Given the description of an element on the screen output the (x, y) to click on. 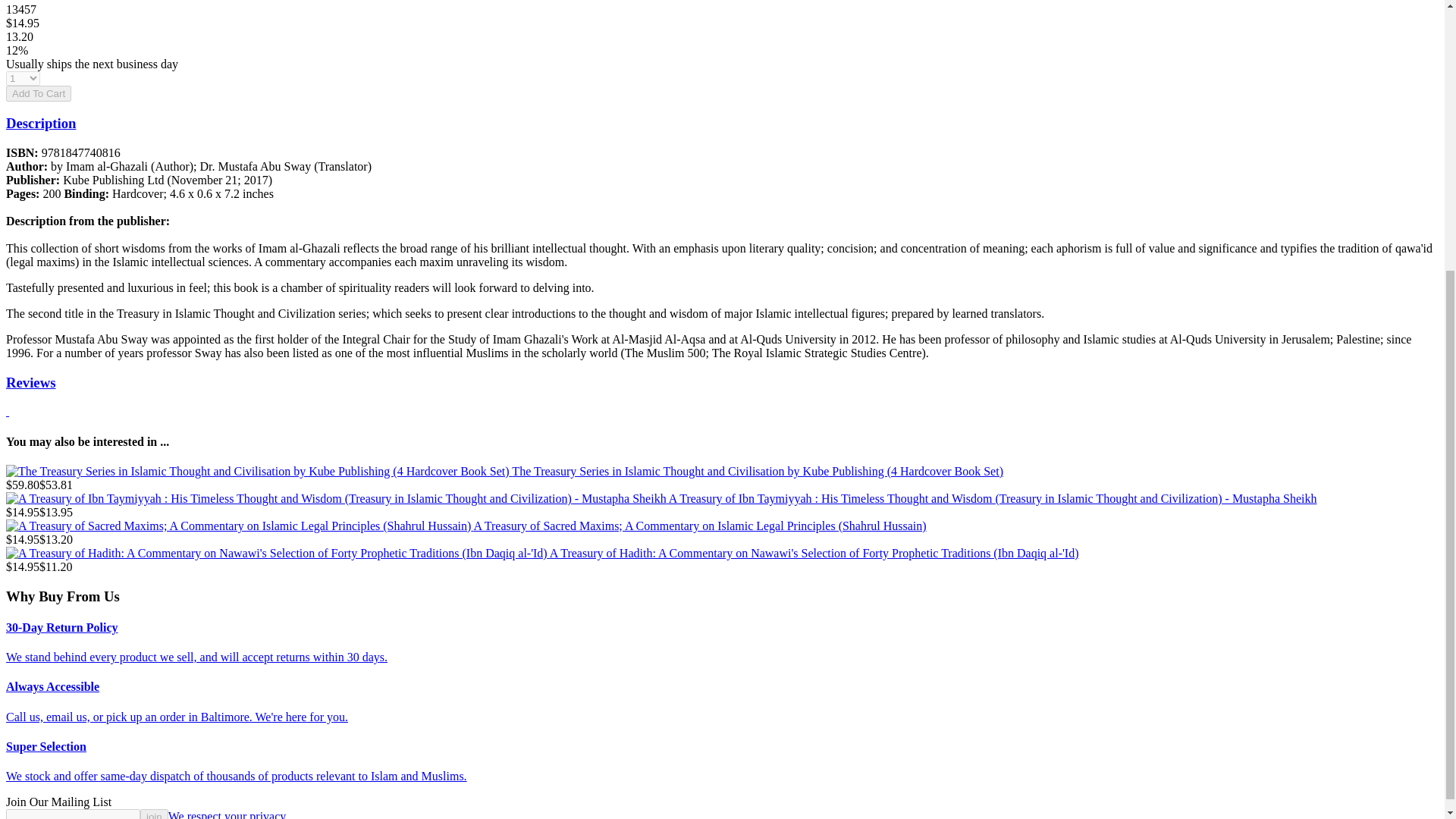
Add To Cart (38, 93)
Reviews (30, 382)
Add To Cart (38, 93)
Description (40, 123)
